Given the description of an element on the screen output the (x, y) to click on. 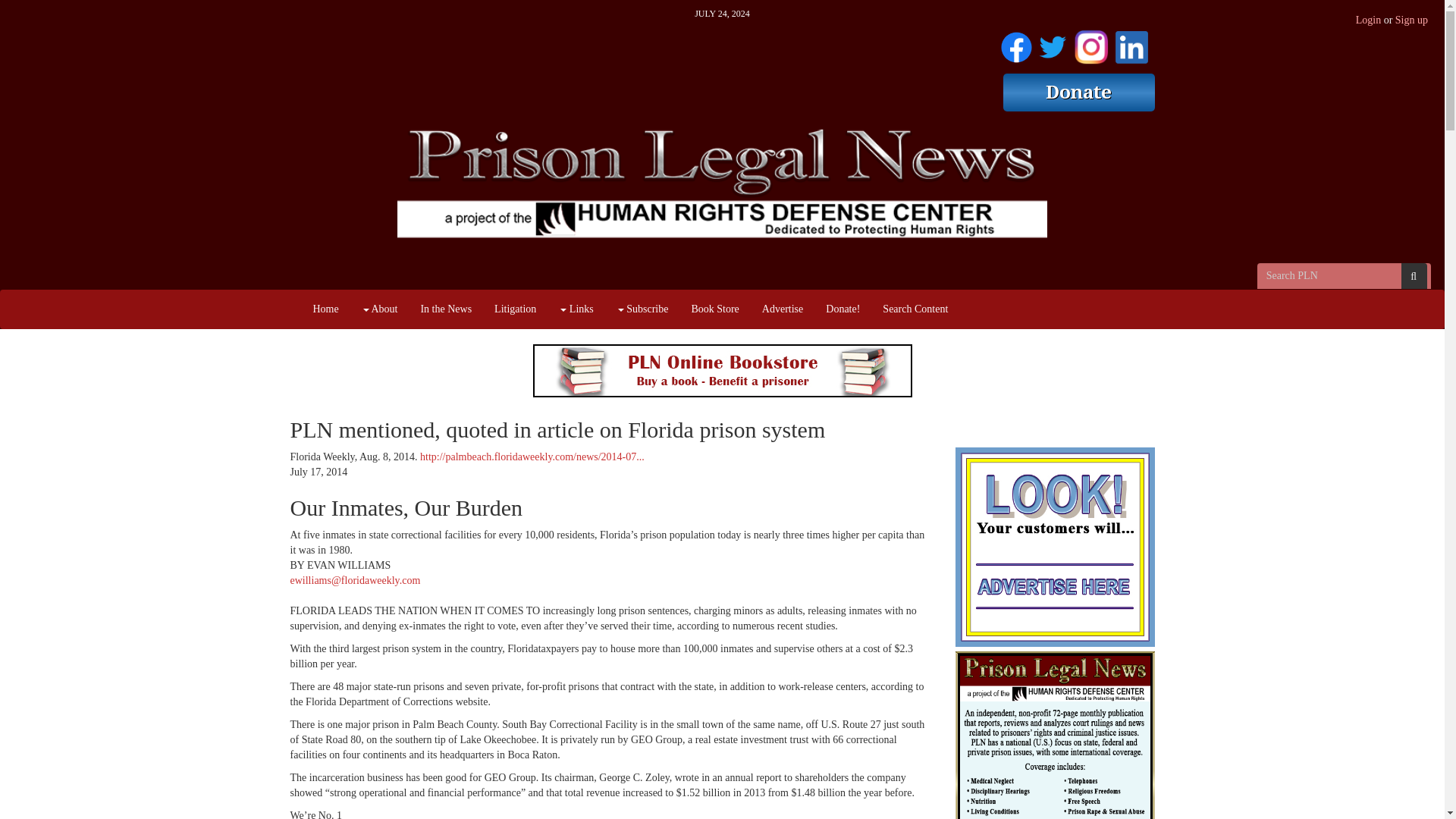
Book Store (714, 309)
Links (575, 309)
Subscribe (642, 309)
Litigation (515, 309)
In the News (446, 309)
HRDC Instagram Page (1091, 44)
Home (325, 309)
Donate! (841, 309)
Advertise (782, 309)
Paul Wright's LinkedIn Page (1131, 44)
Prison Legal News FaceBook Page (1016, 44)
PLN's Twitter Feed (1053, 44)
Search (1413, 275)
Search Content (914, 309)
Sign up (1411, 19)
